Given the description of an element on the screen output the (x, y) to click on. 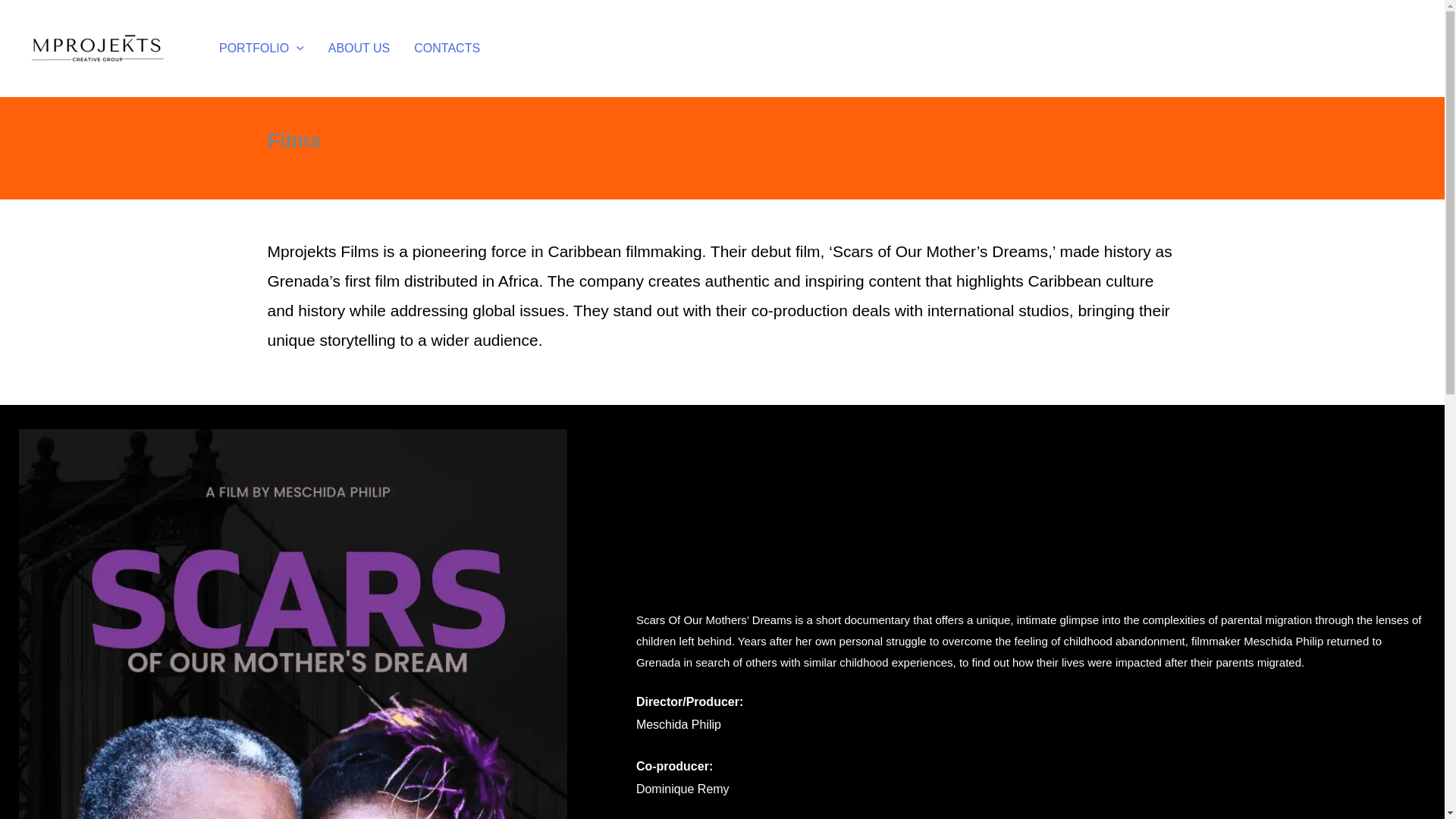
ABOUT US (359, 48)
CONTACTS (446, 48)
PORTFOLIO (260, 48)
